Given the description of an element on the screen output the (x, y) to click on. 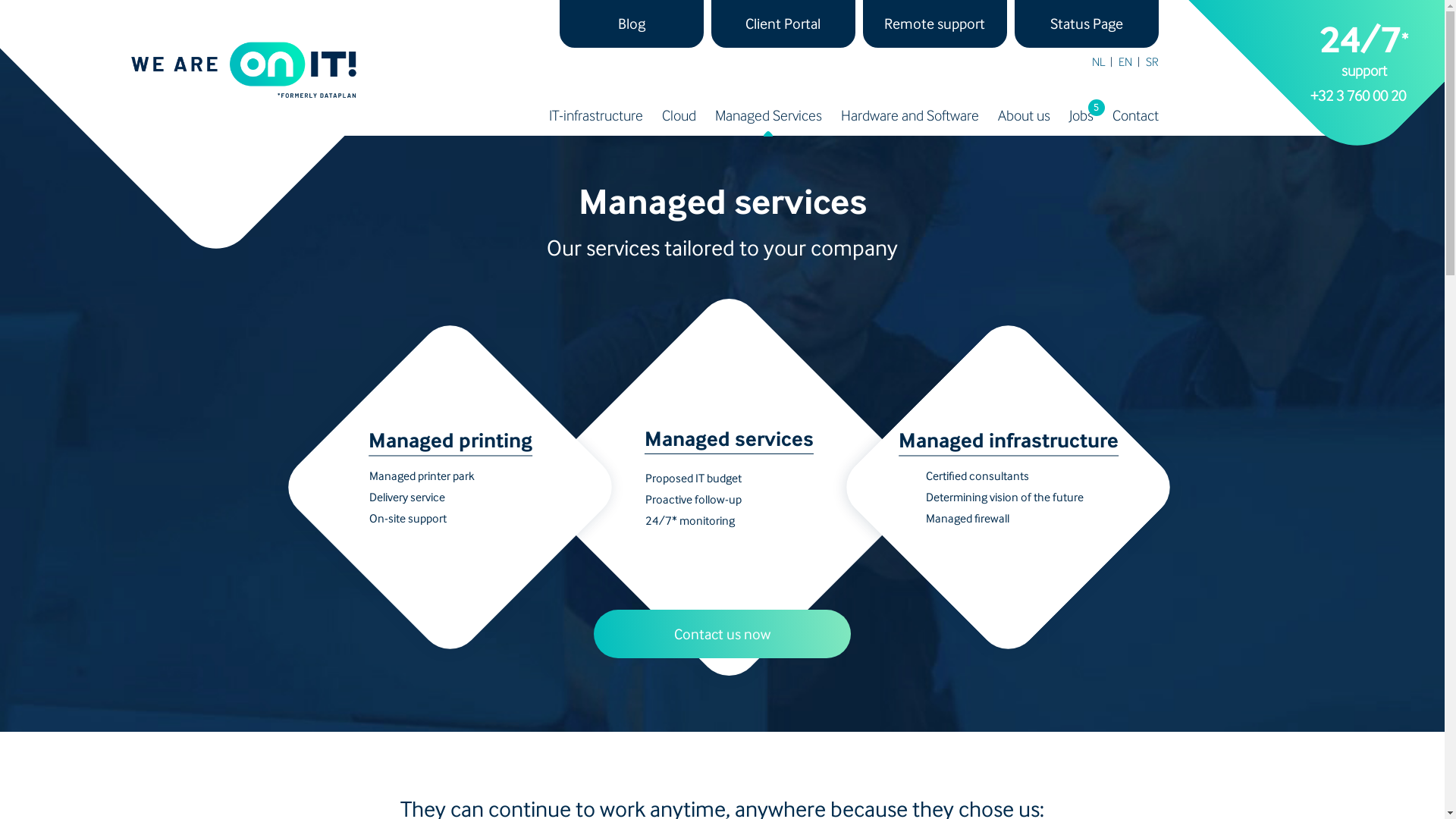
Remote support Element type: text (934, 23)
Managed Services Element type: text (767, 120)
Status Page Element type: text (1086, 23)
SR Element type: text (1151, 66)
5
Jobs Element type: text (1081, 120)
Cloud Element type: text (678, 120)
EN Element type: text (1124, 66)
IT-infrastructure Element type: text (596, 120)
Hardware and Software Element type: text (909, 120)
Blog Element type: text (631, 23)
About us Element type: text (1023, 120)
Contact us now Element type: text (721, 633)
Contact Element type: text (1134, 120)
Client Portal Element type: text (783, 23)
NL Element type: text (1098, 66)
